Given the description of an element on the screen output the (x, y) to click on. 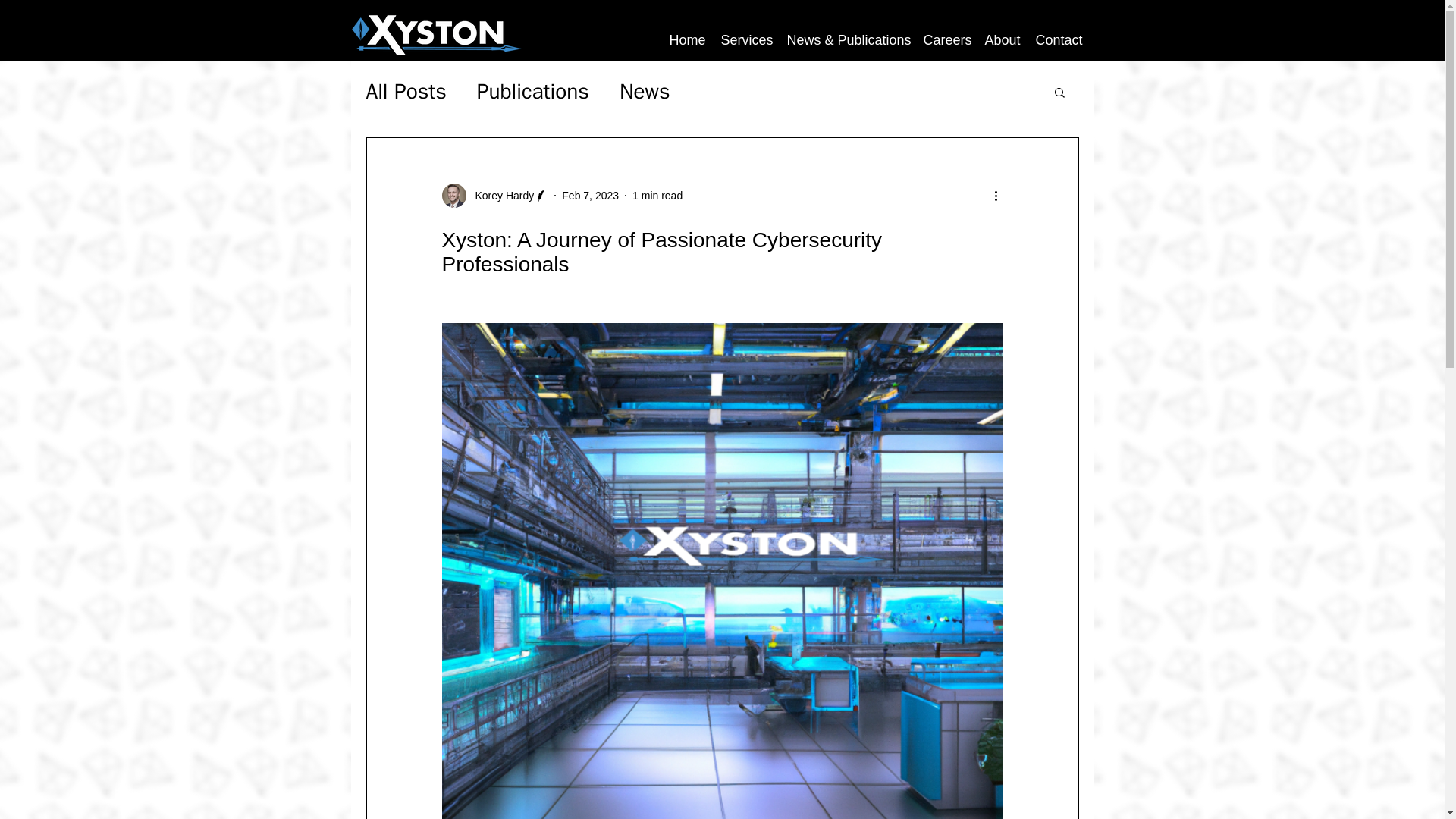
About (1001, 39)
Careers (945, 39)
Korey Hardy (499, 195)
Services (745, 39)
Contact (1058, 39)
1 min read (656, 195)
Feb 7, 2023 (590, 195)
All Posts (405, 91)
Home (687, 39)
Publications (533, 91)
